Given the description of an element on the screen output the (x, y) to click on. 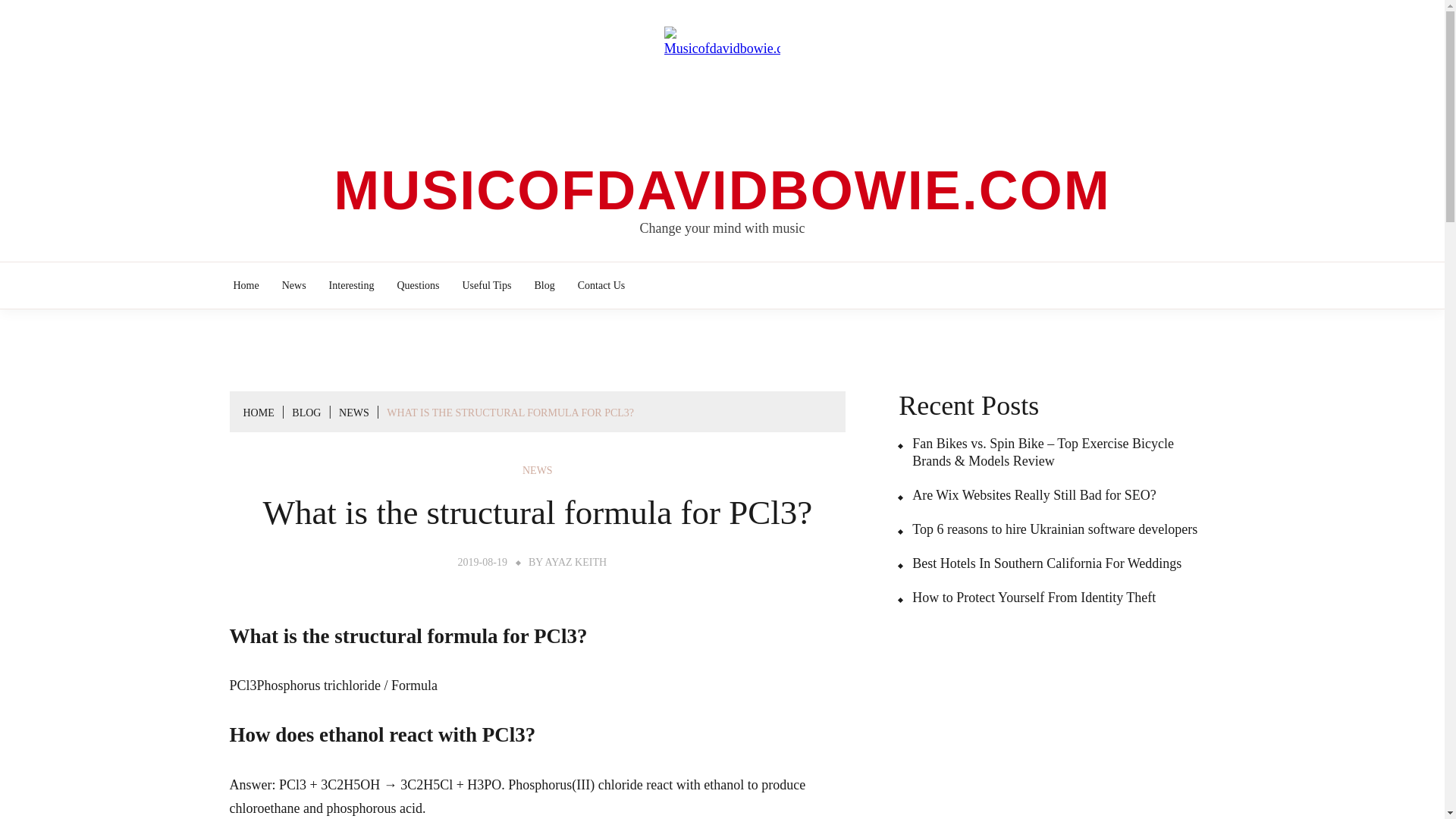
MUSICOFDAVIDBOWIE.COM (721, 189)
AYAZ KEITH (575, 562)
WHAT IS THE STRUCTURAL FORMULA FOR PCL3? (510, 412)
How to Protect Yourself From Identity Theft (1027, 597)
Are Wix Websites Really Still Bad for SEO? (1027, 495)
Top 6 reasons to hire Ukrainian software developers (1047, 529)
Questions (417, 285)
Contact Us (600, 285)
HOME (258, 412)
Useful Tips (486, 285)
